Given the description of an element on the screen output the (x, y) to click on. 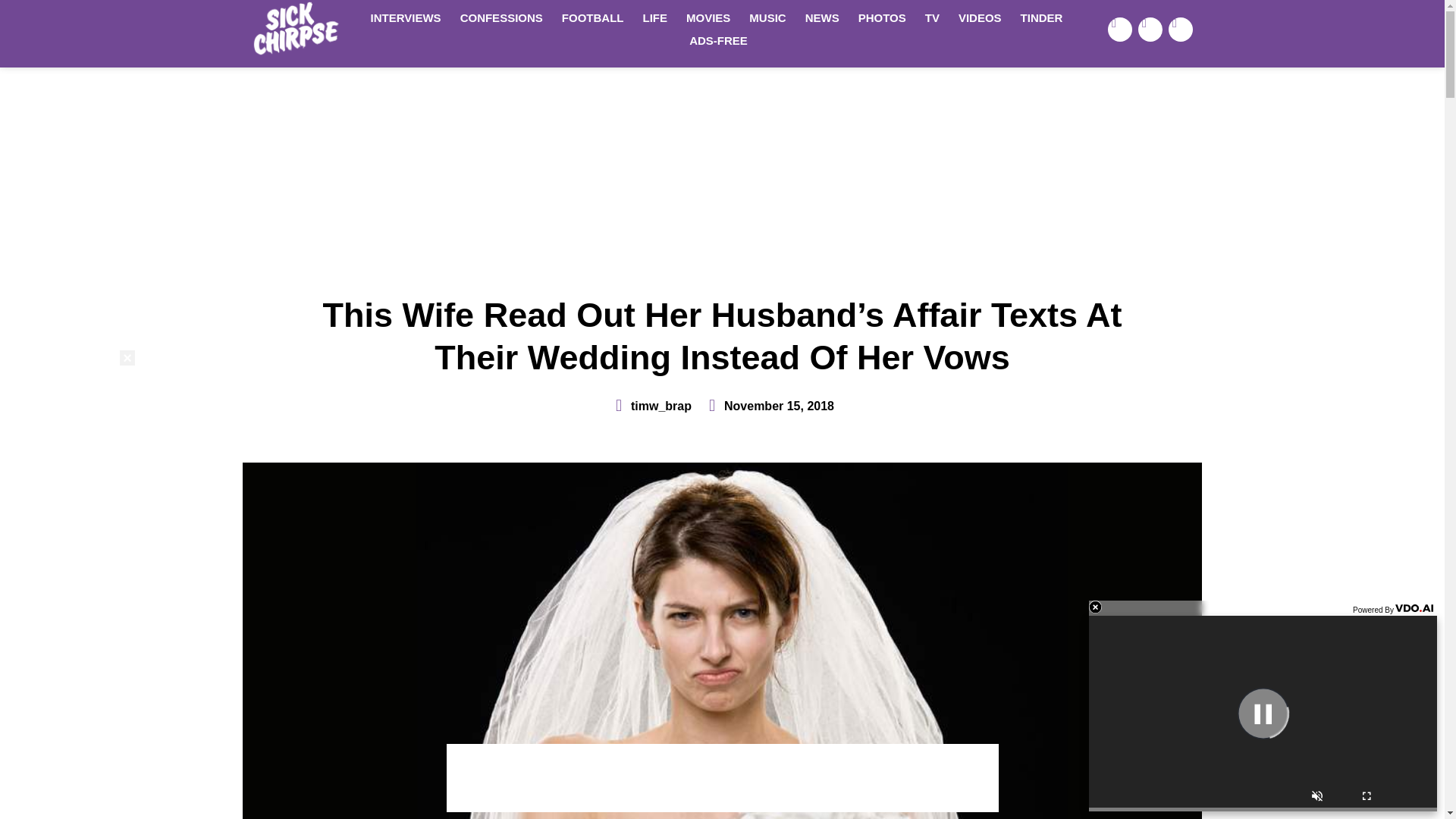
ADS-FREE (718, 40)
VIDEOS (979, 17)
LIFE (654, 17)
Fullscreen (1366, 797)
INTERVIEWS (405, 17)
Facebook (1120, 29)
Pause (1263, 712)
Unmute (1316, 797)
Twitter (1149, 29)
CONFESSIONS (501, 17)
PHOTOS (882, 17)
Instagram (1180, 29)
MOVIES (708, 17)
TV (932, 17)
